Given the description of an element on the screen output the (x, y) to click on. 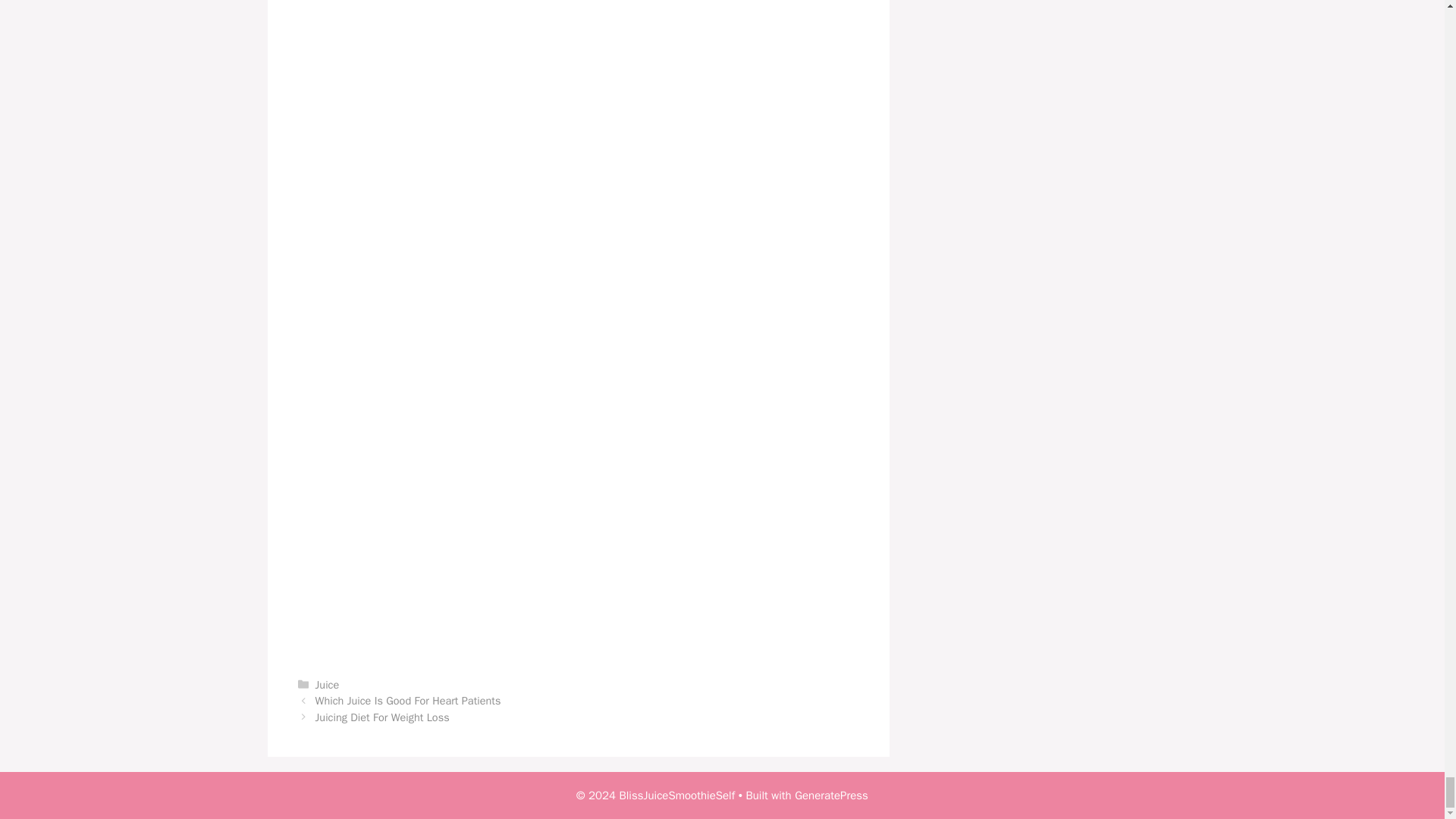
GeneratePress (830, 795)
Juice (327, 684)
Juicing Diet For Weight Loss (382, 716)
Which Juice Is Good For Heart Patients (407, 700)
